Given the description of an element on the screen output the (x, y) to click on. 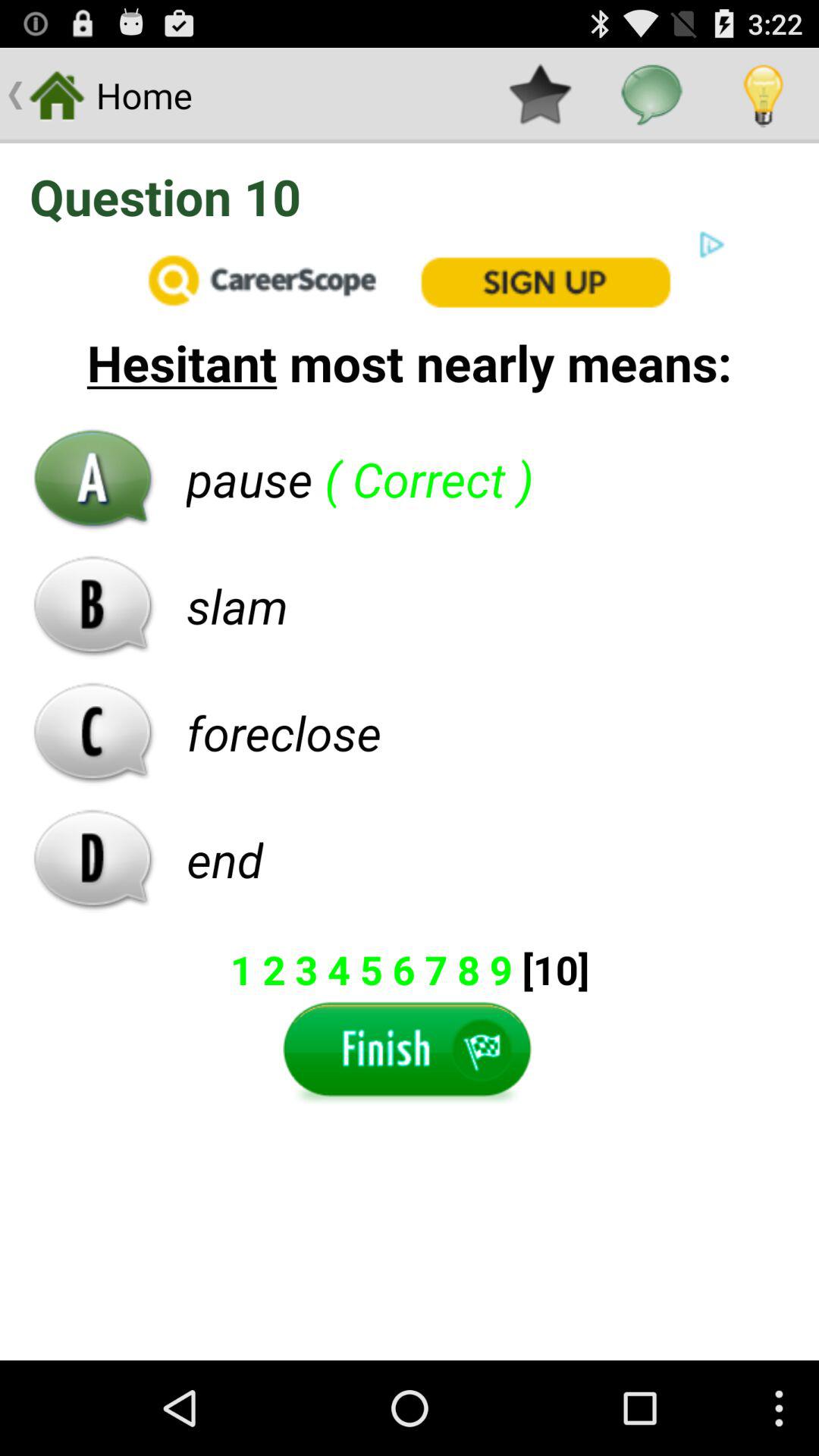
advertisement banner (409, 279)
